Given the description of an element on the screen output the (x, y) to click on. 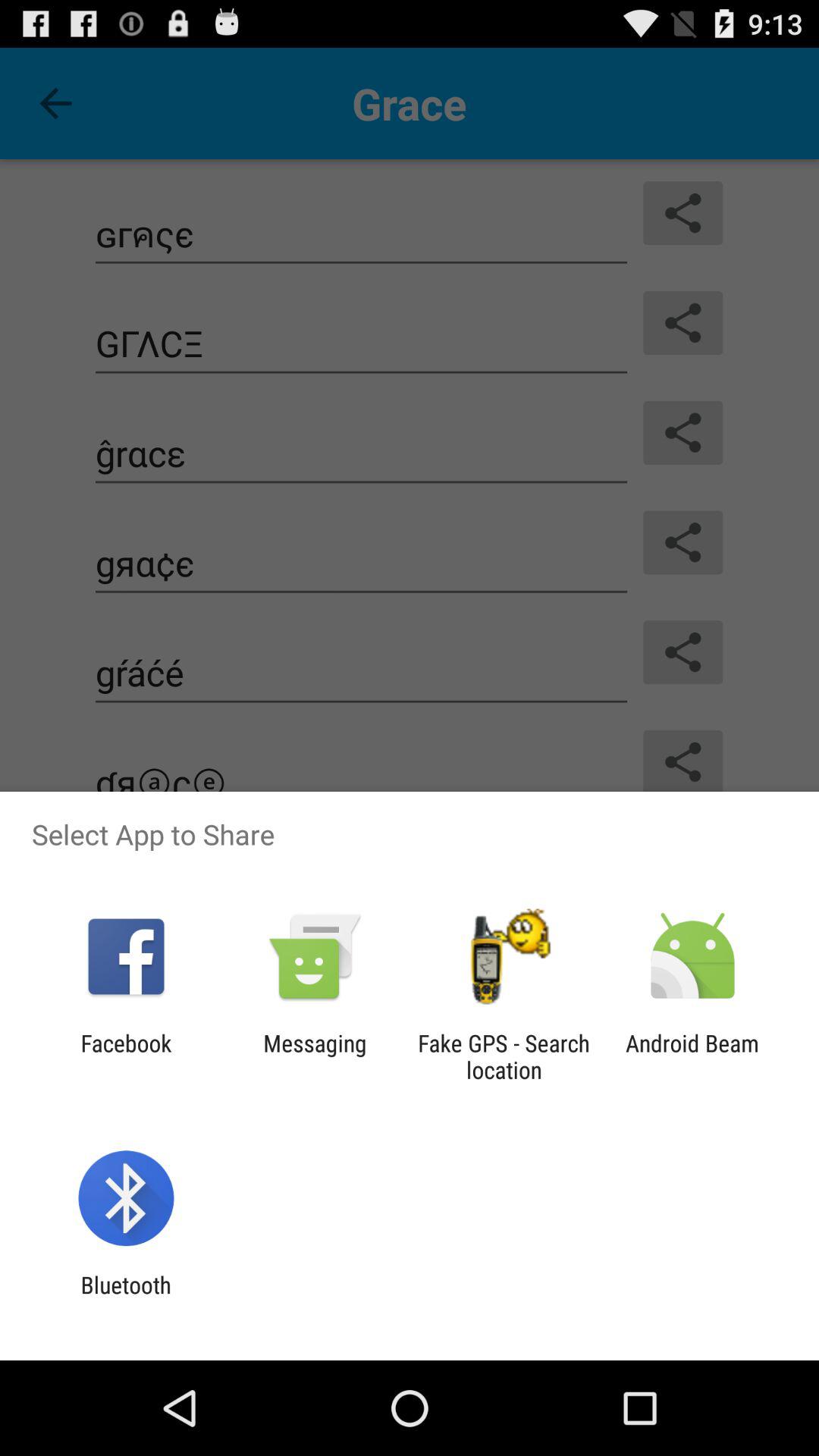
tap the item next to the messaging icon (503, 1056)
